Given the description of an element on the screen output the (x, y) to click on. 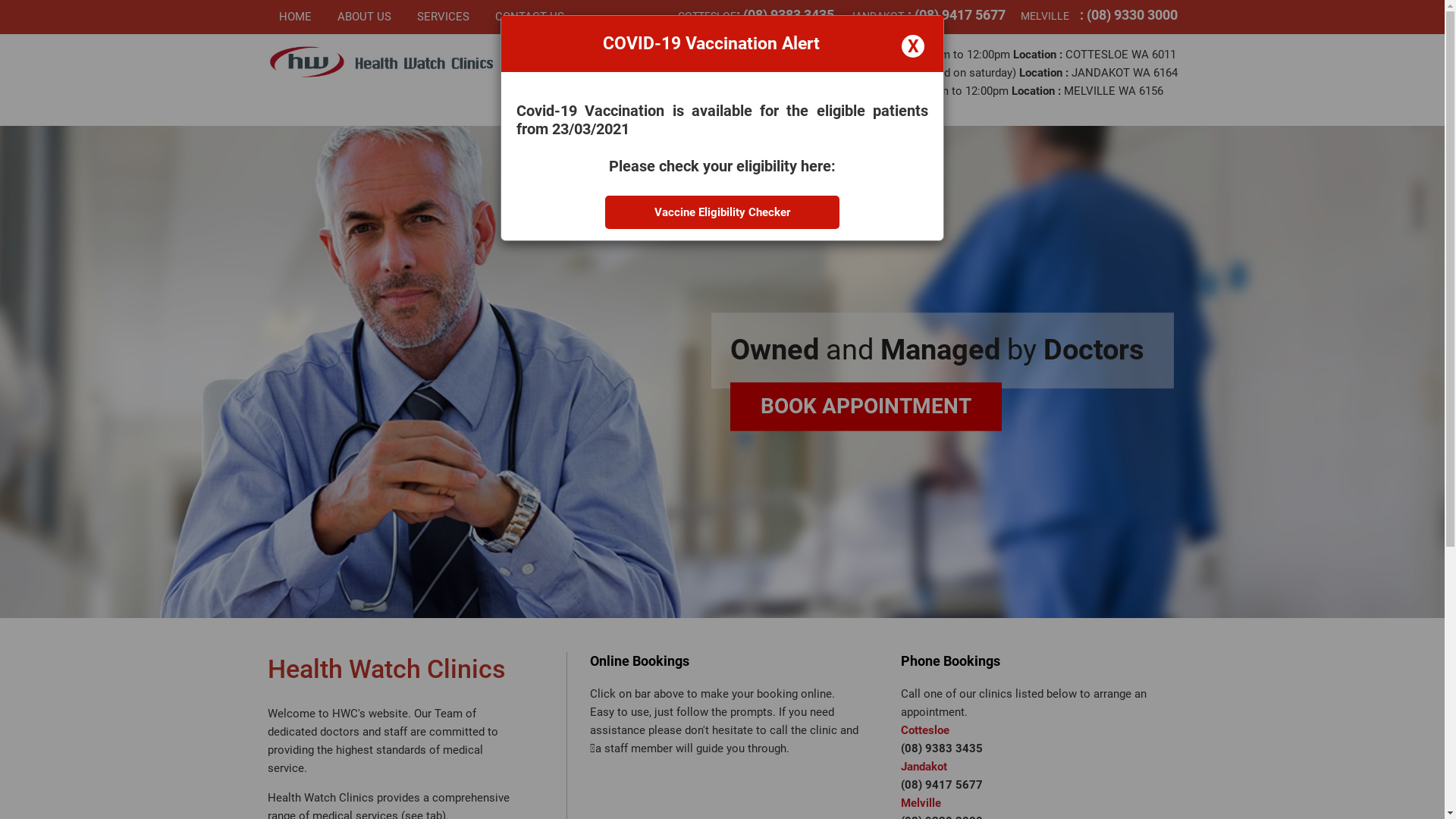
: (08) 9330 3000 Element type: text (1128, 14)
: (08) 9417 5677 Element type: text (955, 14)
SERVICES Element type: text (442, 17)
Health Watch Clinics Element type: hover (604, 62)
Online Bookings Element type: text (727, 660)
HOME Element type: text (301, 17)
Click Here Element type: text (881, 109)
CONTACT US Element type: text (529, 17)
BOOK APPOINTMENT Element type: text (865, 406)
ABOUT US Element type: text (364, 17)
Health Watch Clinics Element type: hover (380, 60)
: (08) 9383 3435 Element type: text (784, 14)
Vaccine Eligibility Checker Element type: text (722, 212)
